Given the description of an element on the screen output the (x, y) to click on. 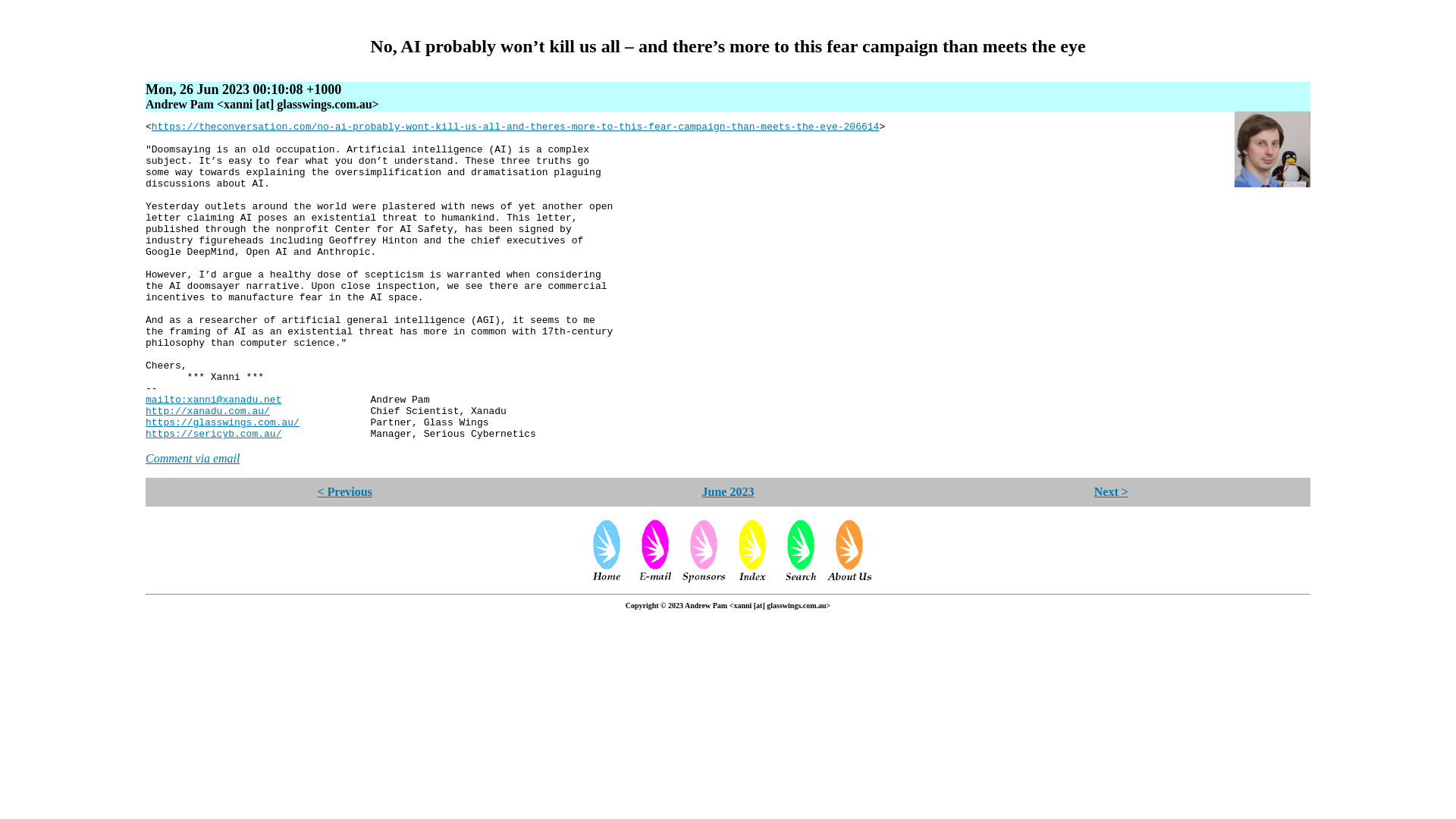
Comment via email (192, 458)
June 2023 (727, 491)
